Given the description of an element on the screen output the (x, y) to click on. 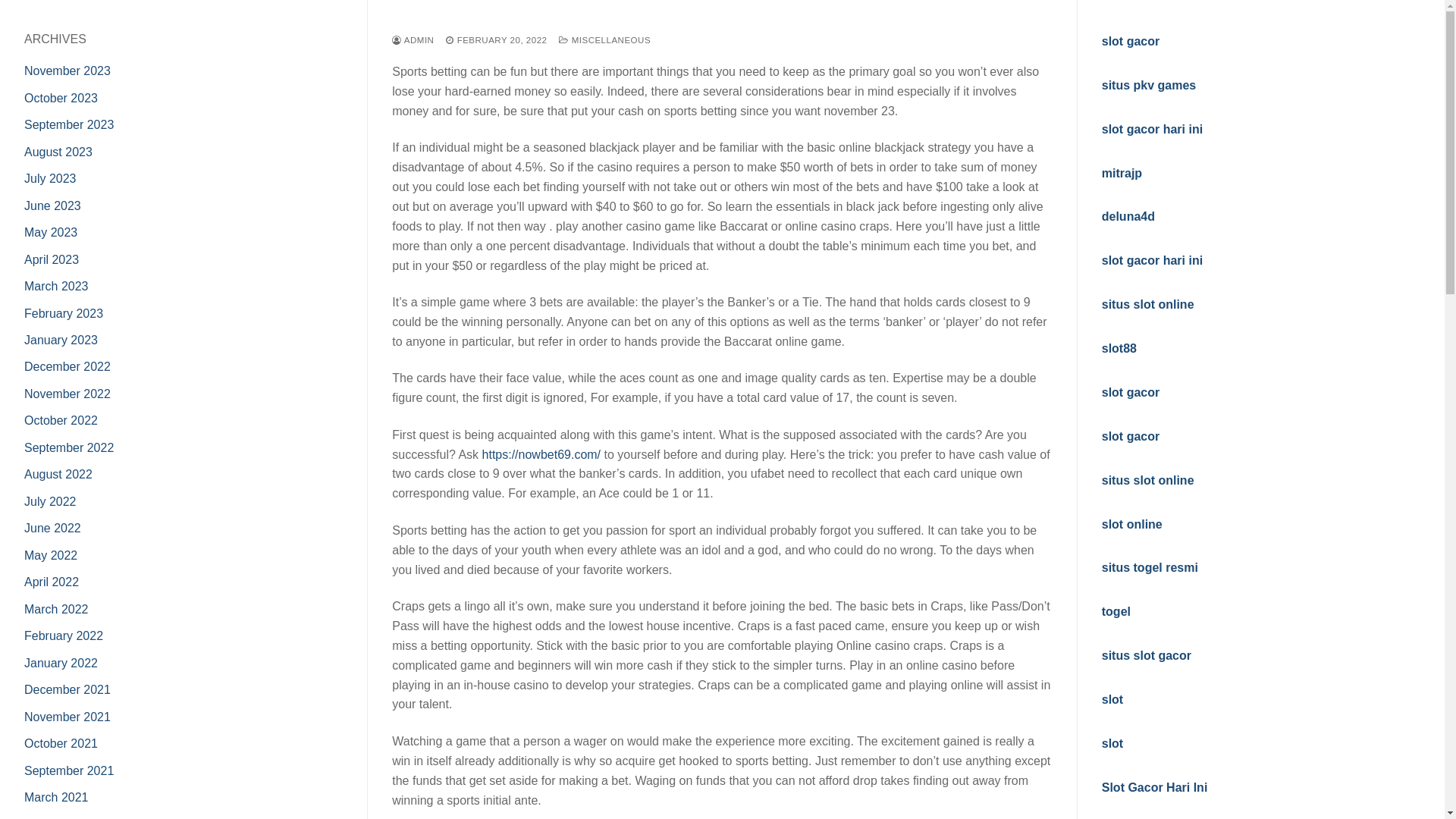
Slot Gacor Hari Ini Element type: text (1017, 787)
December 2021 Element type: text (316, 689)
FEBRUARY 20, 2022 Element type: text (608, 39)
March 2021 Element type: text (305, 796)
slot gacor hari ini Element type: text (1014, 128)
November 2022 Element type: text (316, 393)
MISCELLANEOUS Element type: text (716, 39)
October 2023 Element type: text (309, 97)
ADMIN Element type: text (524, 39)
December 2022 Element type: text (316, 366)
March 2022 Element type: text (305, 608)
July 2023 Element type: text (299, 178)
June 2023 Element type: text (301, 205)
situs togel resmi Element type: text (1012, 567)
deluna4d Element type: text (990, 216)
mitrajp Element type: text (984, 172)
November 2023 Element type: text (316, 70)
February 2022 Element type: text (312, 635)
slot online Element type: text (994, 523)
September 2022 Element type: text (317, 447)
slot88 Element type: text (981, 348)
January 2023 Element type: text (309, 339)
slot gacor hari ini Element type: text (1014, 260)
slot Element type: text (974, 743)
January 2022 Element type: text (309, 662)
situs pkv games Element type: text (1011, 84)
October 2021 Element type: text (309, 743)
April 2023 Element type: text (300, 259)
May 2022 Element type: text (299, 555)
May 2023 Element type: text (299, 231)
August 2022 Element type: text (307, 473)
July 2022 Element type: text (299, 501)
slot gacor Element type: text (993, 391)
situs slot online Element type: text (1010, 479)
togel Element type: text (978, 611)
situs slot gacor Element type: text (1009, 655)
slot gacor Element type: text (993, 40)
October 2022 Element type: text (309, 420)
March 2023 Element type: text (305, 285)
June 2022 Element type: text (301, 527)
February 2023 Element type: text (312, 313)
August 2023 Element type: text (307, 151)
slot Element type: text (974, 699)
September 2023 Element type: text (317, 124)
slot gacor Element type: text (993, 435)
https://nowbet69.com/ Element type: text (562, 649)
situs slot online Element type: text (1010, 304)
November 2021 Element type: text (316, 716)
April 2022 Element type: text (300, 581)
September 2021 Element type: text (317, 770)
